Given the description of an element on the screen output the (x, y) to click on. 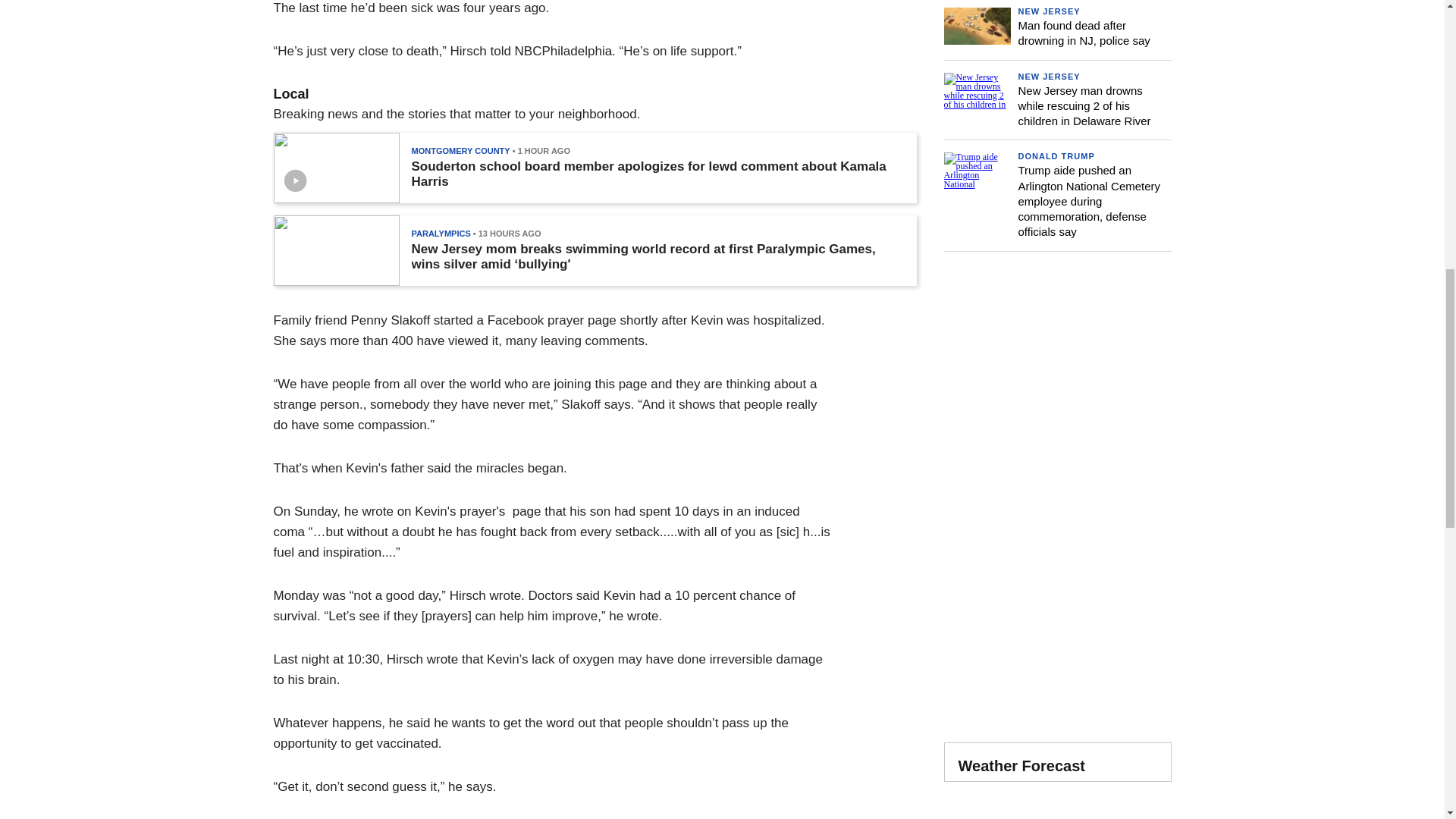
PARALYMPICS (440, 233)
MONTGOMERY COUNTY (459, 150)
